Given the description of an element on the screen output the (x, y) to click on. 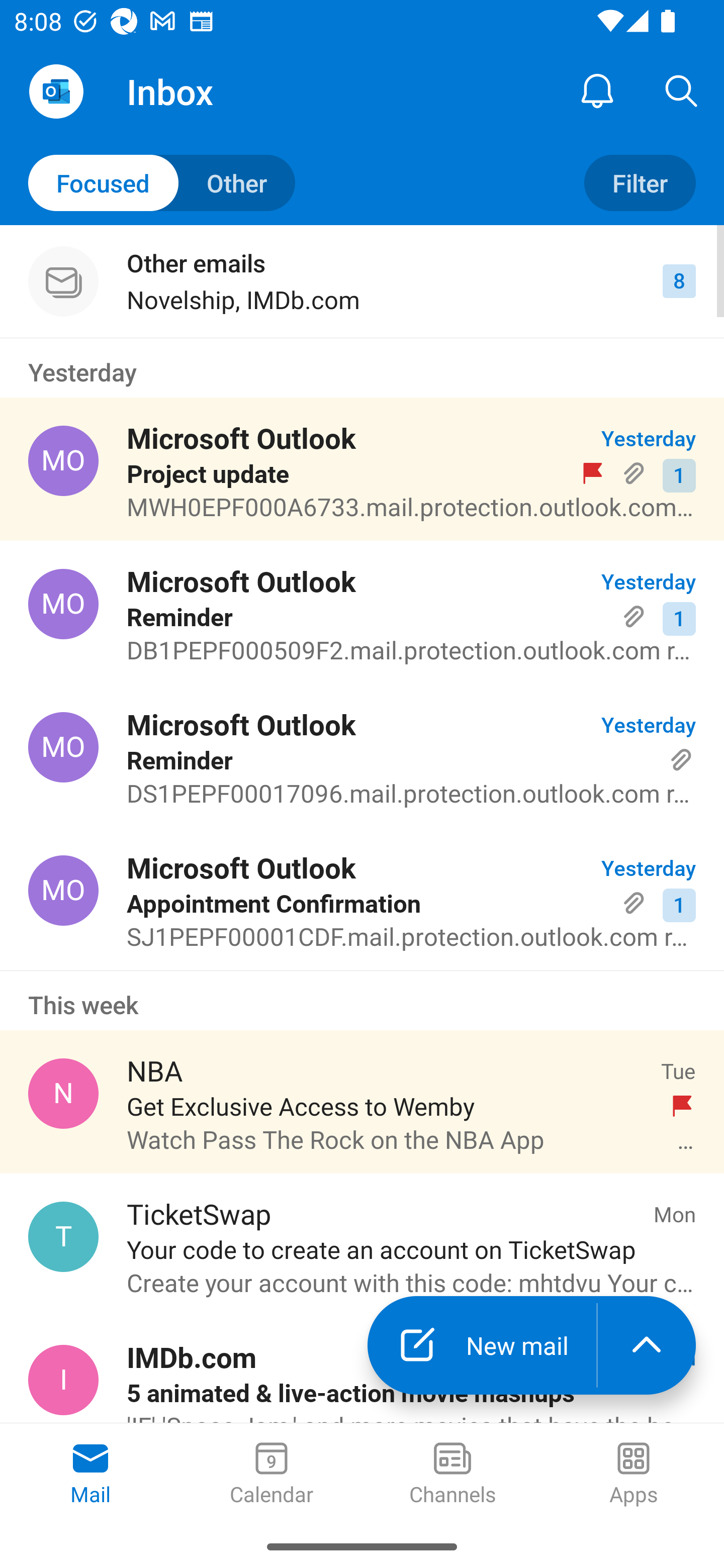
Notification Center (597, 90)
Search, ,  (681, 90)
Open Navigation Drawer (55, 91)
Toggle to other mails (161, 183)
Filter (639, 183)
Other emails Novelship, IMDb.com 8 (362, 281)
NBA, NBA@email.nba.com (63, 1093)
TicketSwap, info@ticketswap.com (63, 1236)
New mail (481, 1344)
launch the extended action menu (646, 1344)
IMDb.com, do-not-reply@imdb.com (63, 1380)
Calendar (271, 1474)
Channels (452, 1474)
Apps (633, 1474)
